Given the description of an element on the screen output the (x, y) to click on. 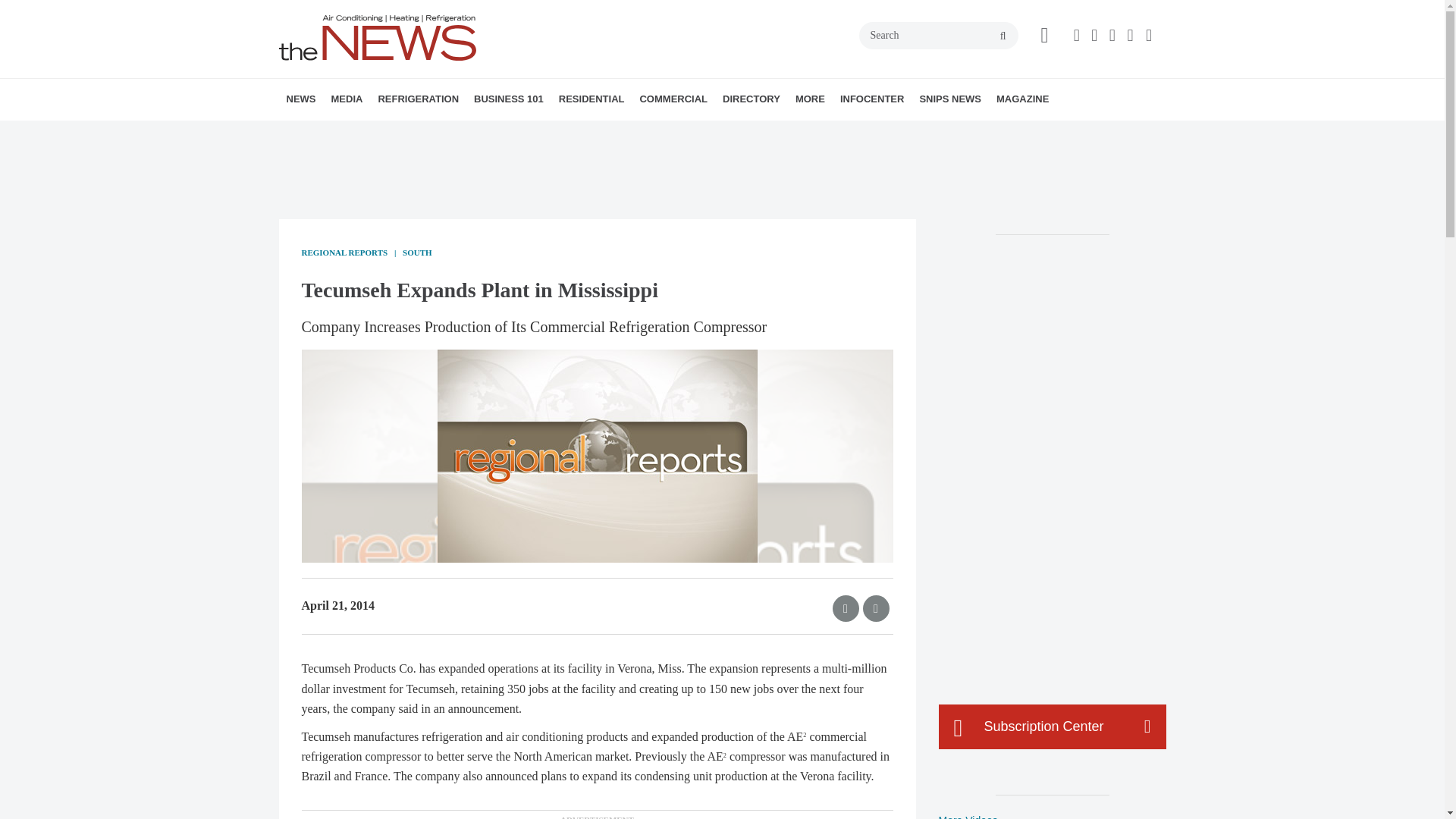
FROSTLINES (478, 132)
MANUFACTURER REPORTS (386, 132)
BUSINESS 101 (508, 98)
REFRIGERATION (417, 98)
WEBINARS (436, 132)
DUCTWORD PUZZLE (449, 132)
THE NEWS HVACR QUIZ (445, 132)
Search (938, 35)
PODCASTS (430, 132)
BREAKING NEWS (373, 132)
AHR EXPO 2024 VIDEOS (424, 132)
HVAC DATA (391, 132)
ONLINE POLL (452, 132)
NEWS (301, 98)
REFRIGERANT REGULATIONS (472, 132)
